Given the description of an element on the screen output the (x, y) to click on. 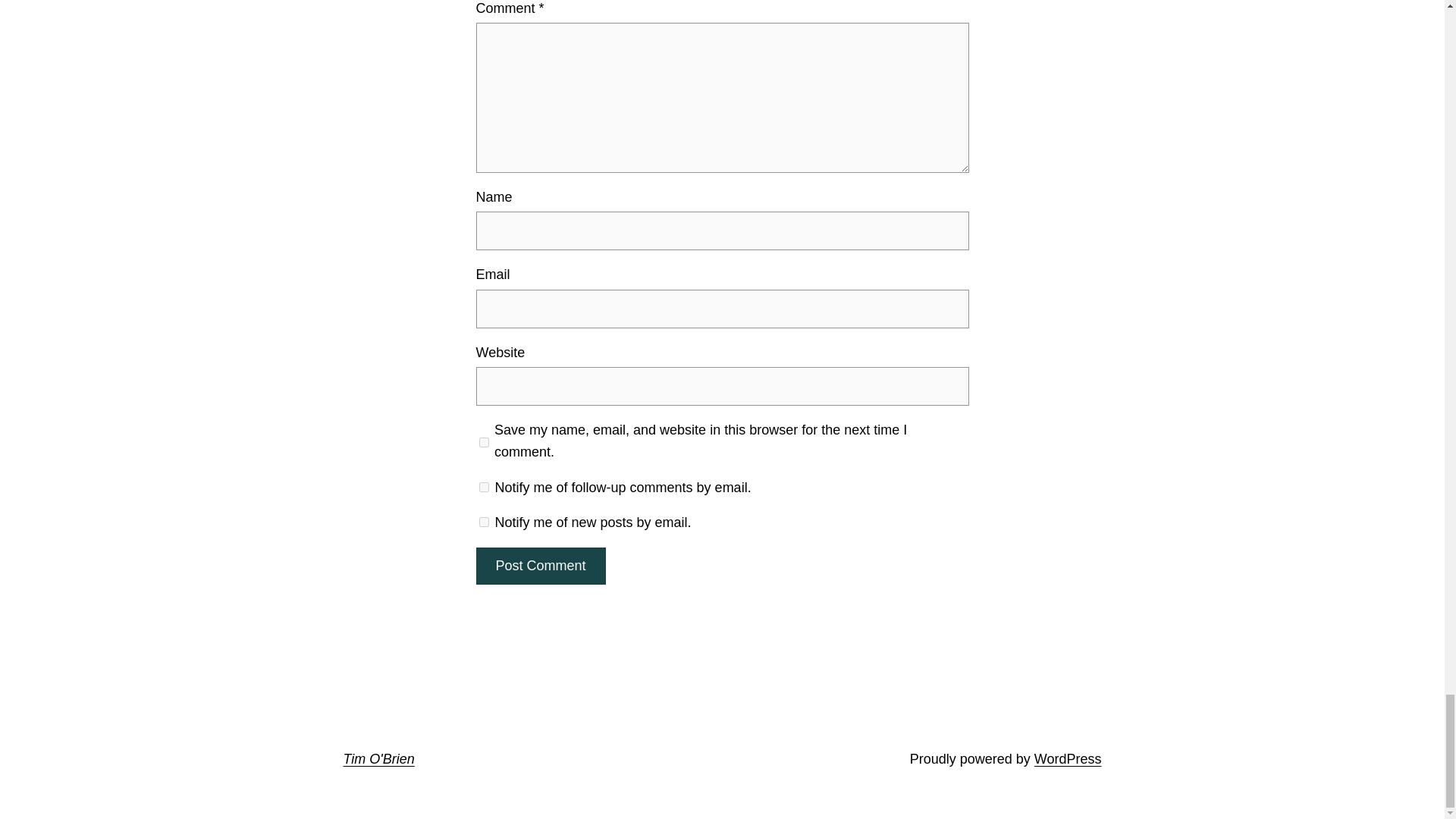
subscribe (484, 487)
Post Comment (540, 565)
subscribe (484, 521)
